Given the description of an element on the screen output the (x, y) to click on. 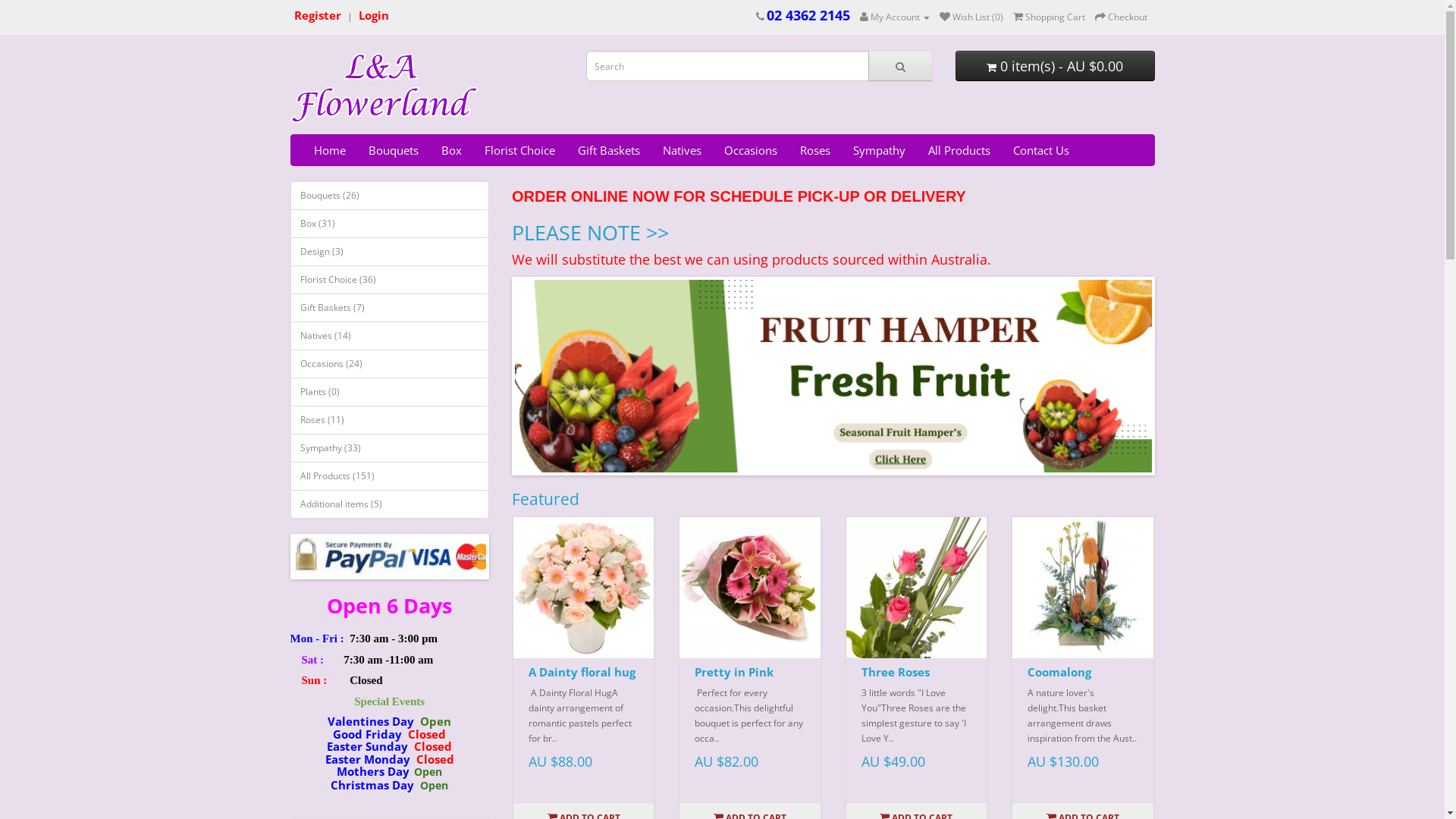
Three Roses Element type: text (895, 671)
Florist Choice (36) Element type: text (389, 279)
Pretty in Pink Element type: text (733, 671)
Home Element type: text (328, 149)
Login Element type: text (372, 15)
Three Roses Element type: hover (916, 587)
Shopping Cart Element type: text (1049, 16)
Register Element type: text (317, 15)
Natives Element type: text (681, 149)
All Products (151) Element type: text (389, 475)
Occasions (24) Element type: text (389, 363)
Sympathy (33) Element type: text (389, 447)
Gift Baskets (7) Element type: text (389, 307)
Contact Us Element type: text (1040, 149)
Occasions Element type: text (750, 149)
Box Element type: text (450, 149)
Design (3) Element type: text (389, 251)
All Products Element type: text (958, 149)
Plants (0) Element type: text (389, 391)
Coomalong Element type: text (1059, 671)
Additional items (5) Element type: text (389, 503)
Box (31) Element type: text (389, 223)
Florist Choice Element type: text (519, 149)
Coomalong Element type: hover (1082, 587)
Bouquets (26) Element type: text (389, 195)
A Dainty floral hug Element type: text (581, 671)
A Dainty floral hug Element type: hover (583, 587)
Checkout Element type: text (1121, 16)
Gift Baskets Element type: text (607, 149)
My Account Element type: text (894, 16)
L & A FLOWERLAND Element type: hover (384, 88)
Wish List (0) Element type: text (970, 16)
Pretty in Pink Element type: hover (749, 587)
Roses (11) Element type: text (389, 419)
0 item(s) - AU $0.00 Element type: text (1054, 65)
Roses Element type: text (814, 149)
Bouquets Element type: text (392, 149)
Natives (14) Element type: text (389, 335)
Sympathy Element type: text (878, 149)
